Given the description of an element on the screen output the (x, y) to click on. 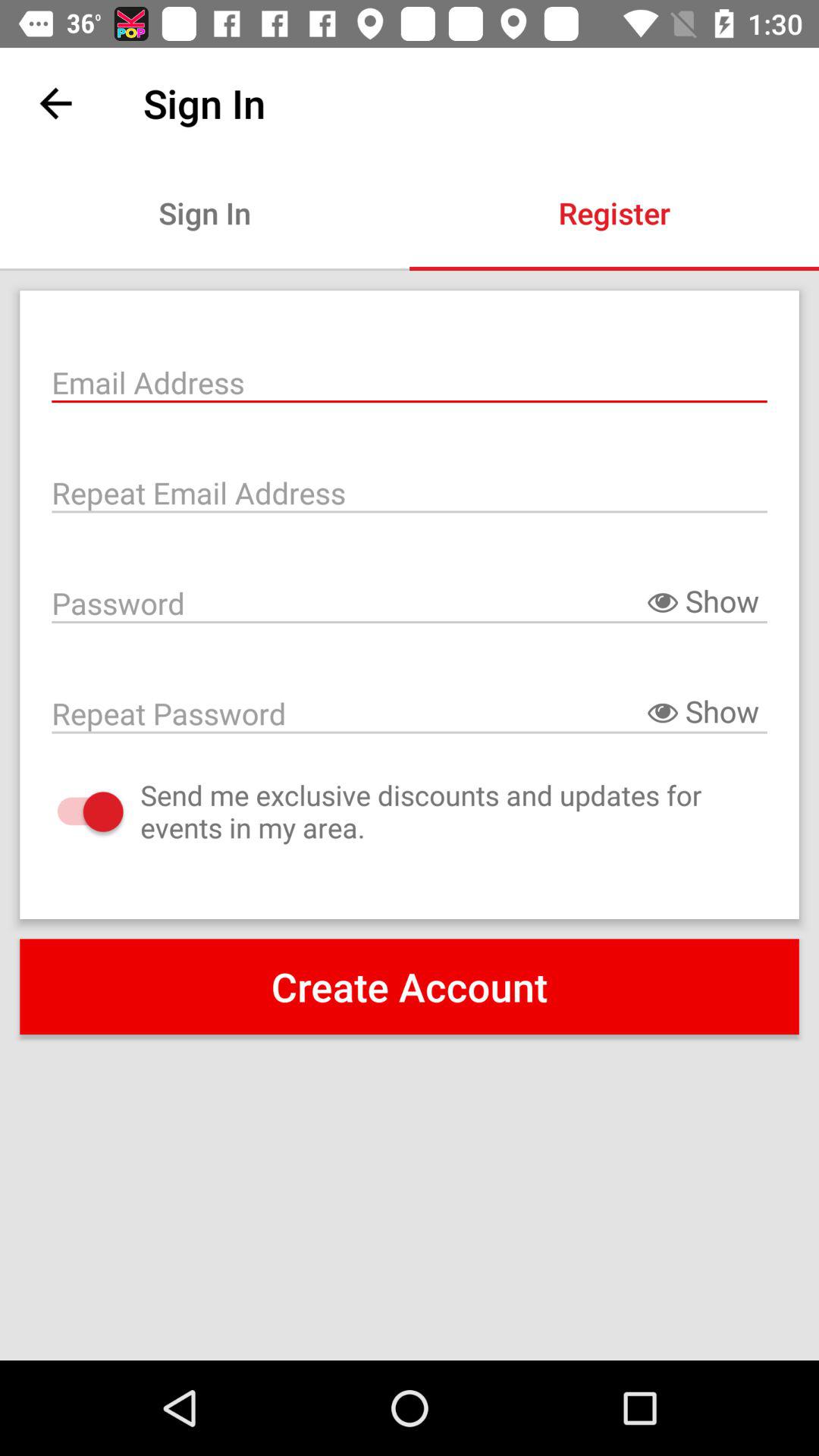
repeat email address field (409, 491)
